Given the description of an element on the screen output the (x, y) to click on. 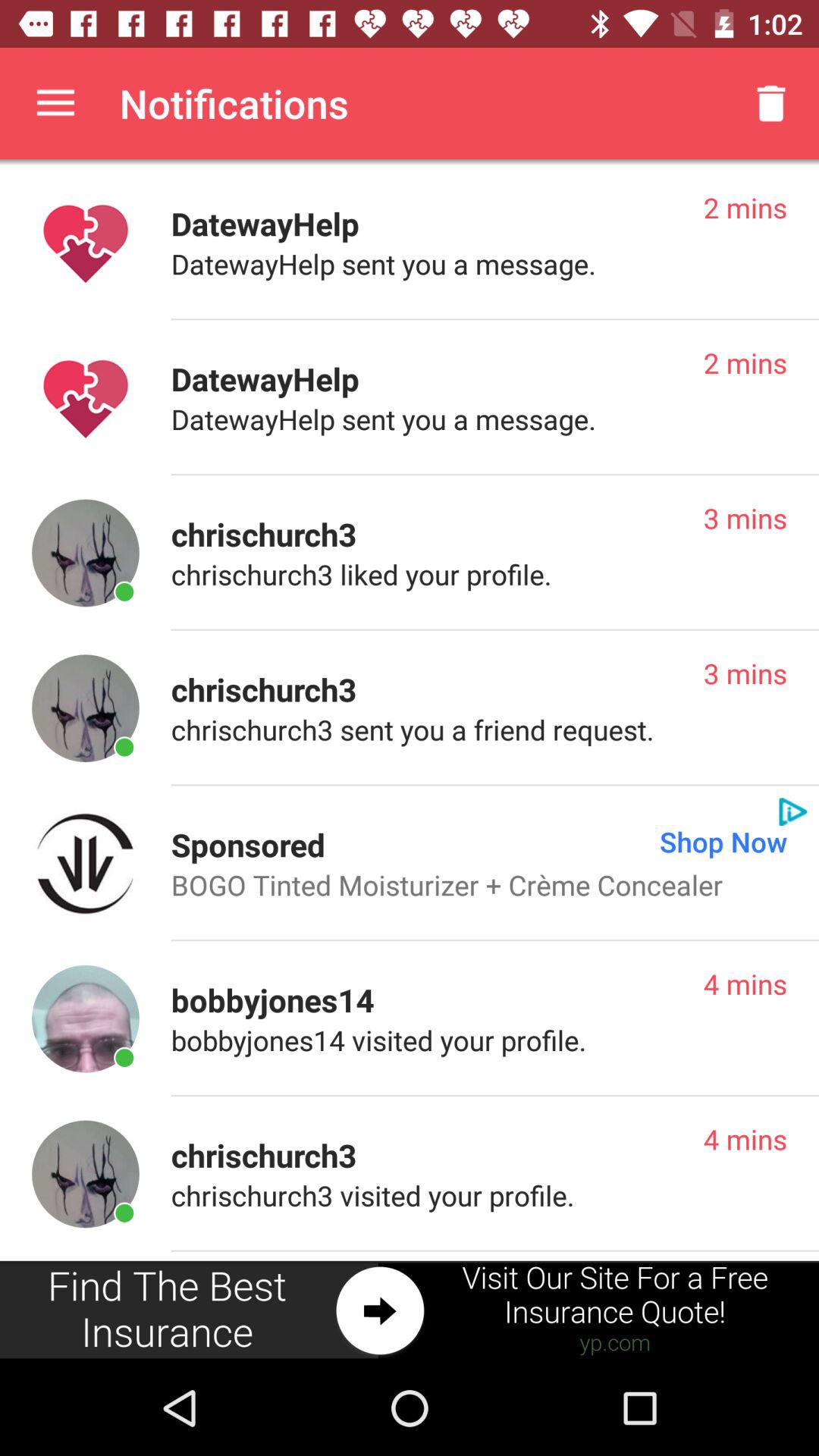
go to advertiser site (409, 1310)
